Given the description of an element on the screen output the (x, y) to click on. 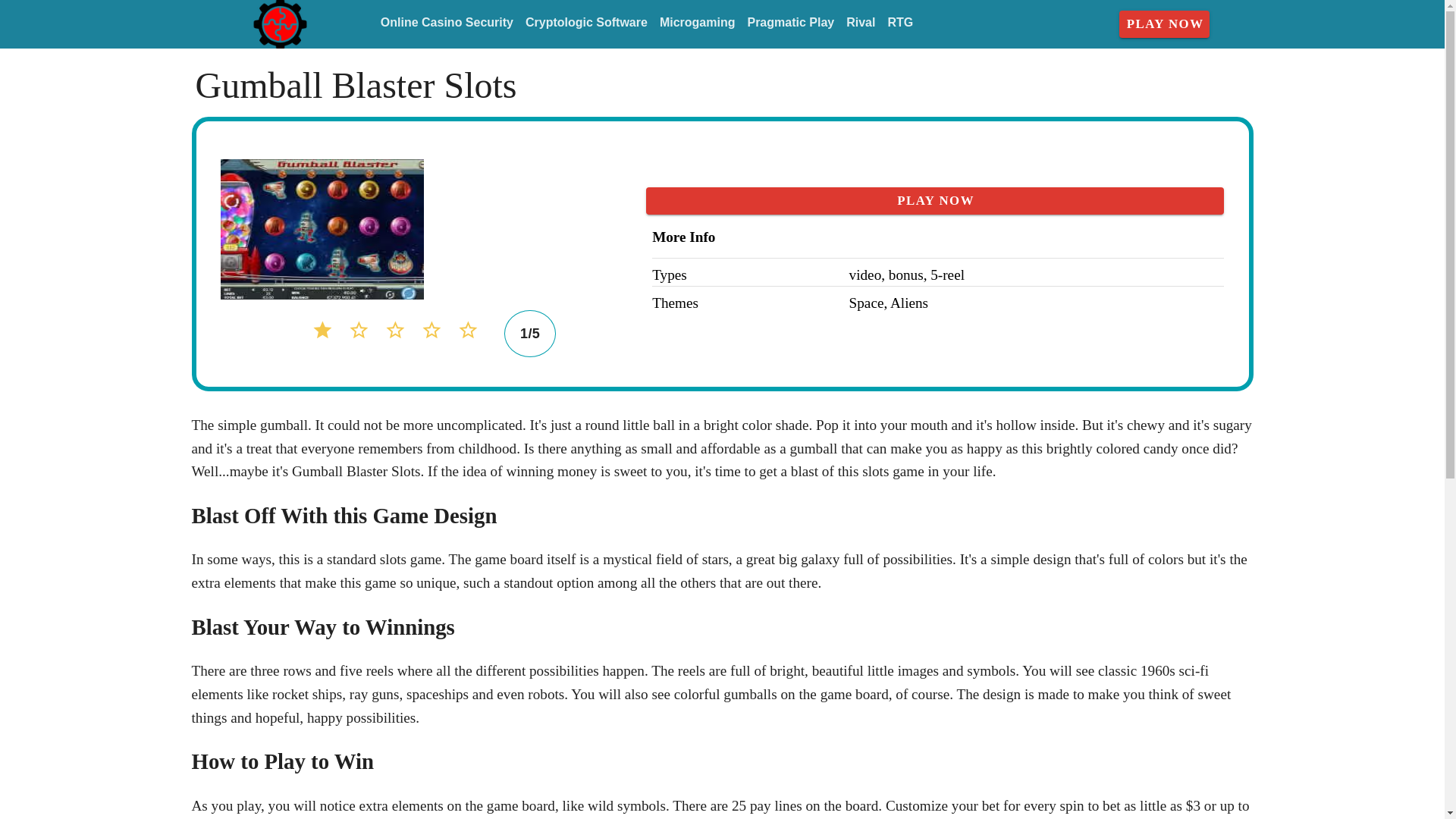
Rival (860, 22)
Microgaming (697, 22)
PLAY NOW (1164, 23)
Pragmatic Play (790, 22)
Cryptologic Software (586, 22)
PLAY NOW (935, 200)
RTG (899, 22)
Online Casino Security (446, 22)
